Given the description of an element on the screen output the (x, y) to click on. 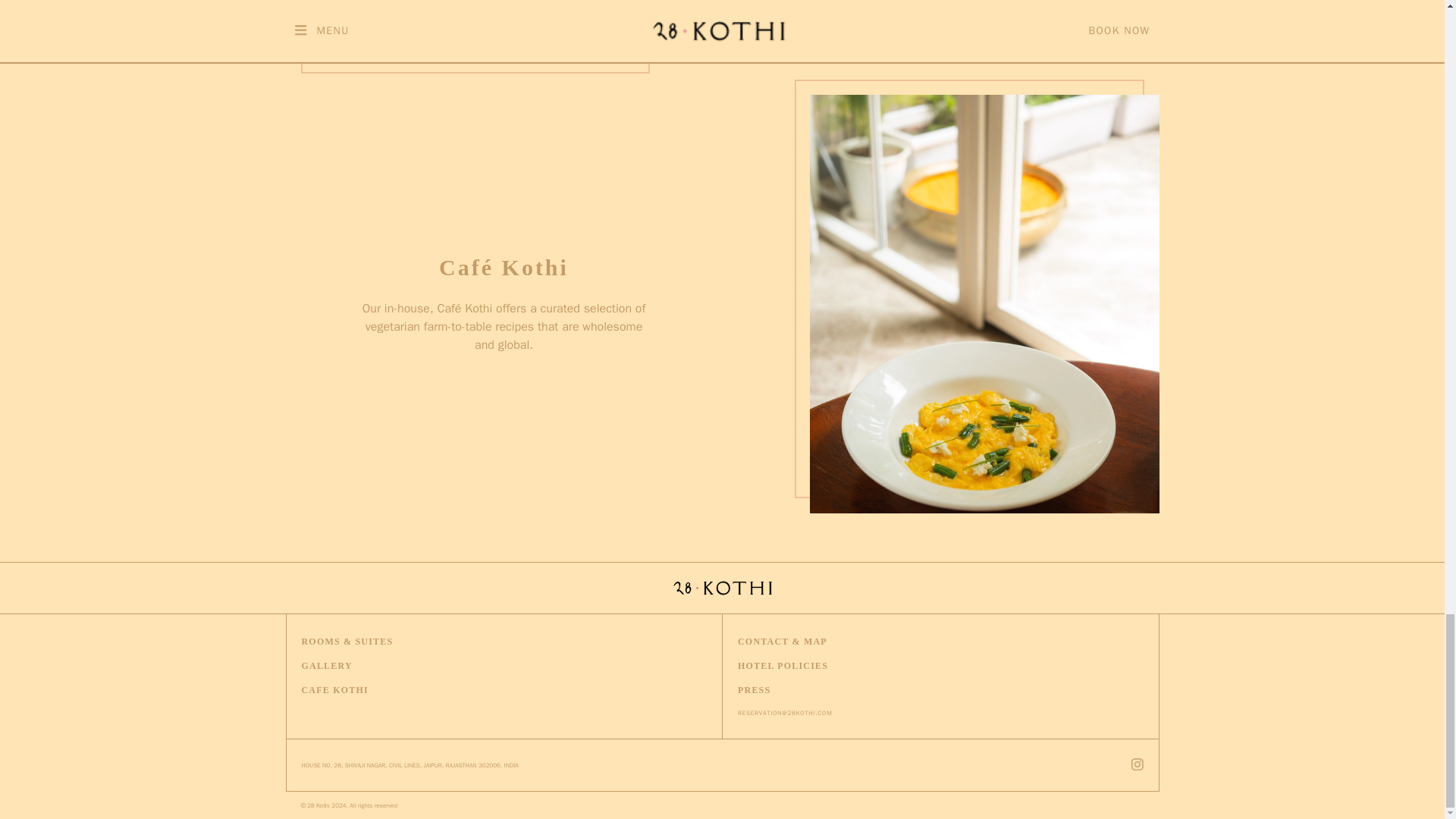
PRESS (754, 689)
CAFE KOTHI (334, 689)
GALLERY (326, 665)
HOTEL POLICIES (783, 665)
